Given the description of an element on the screen output the (x, y) to click on. 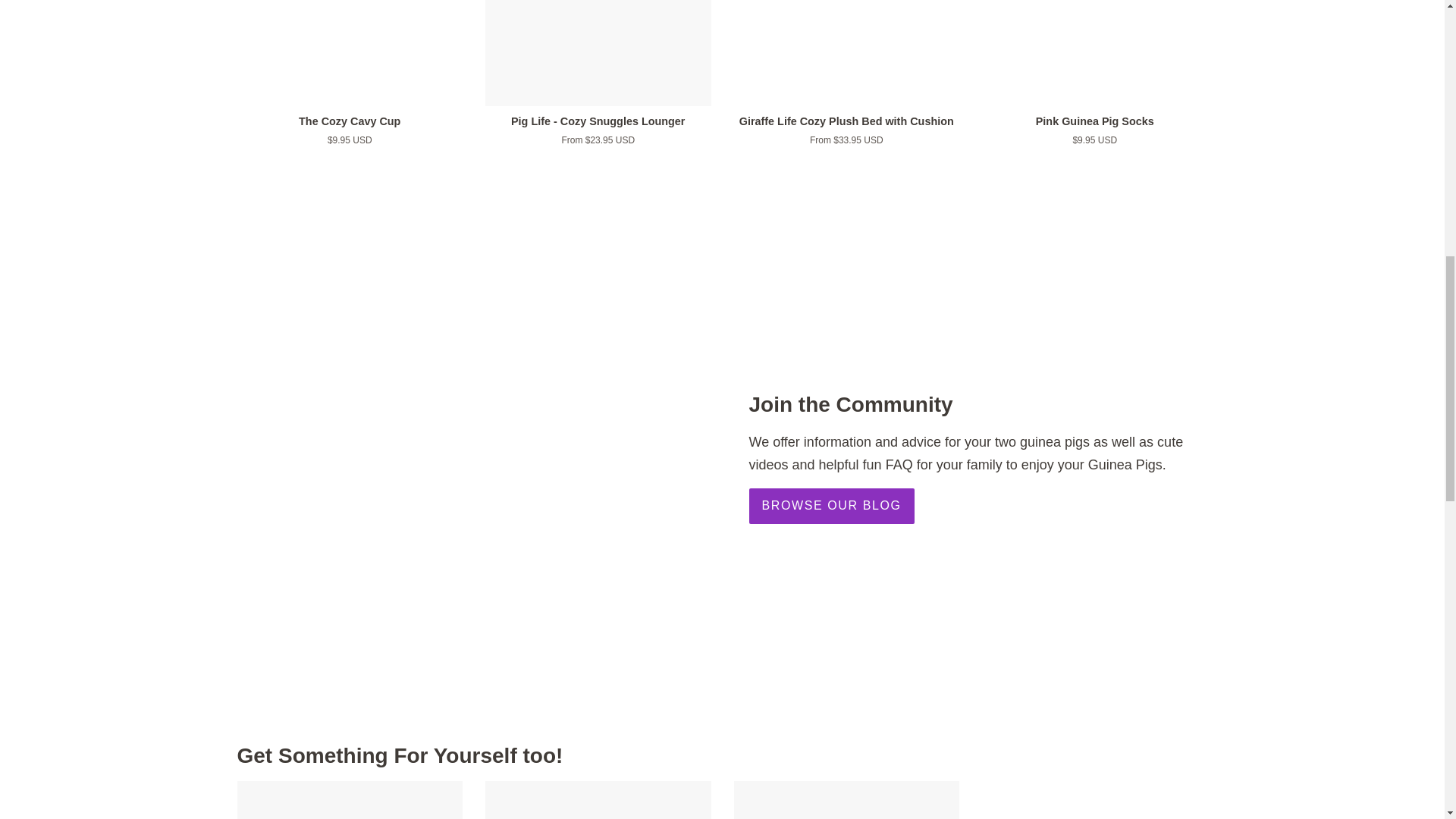
BROWSE OUR BLOG (831, 506)
